Given the description of an element on the screen output the (x, y) to click on. 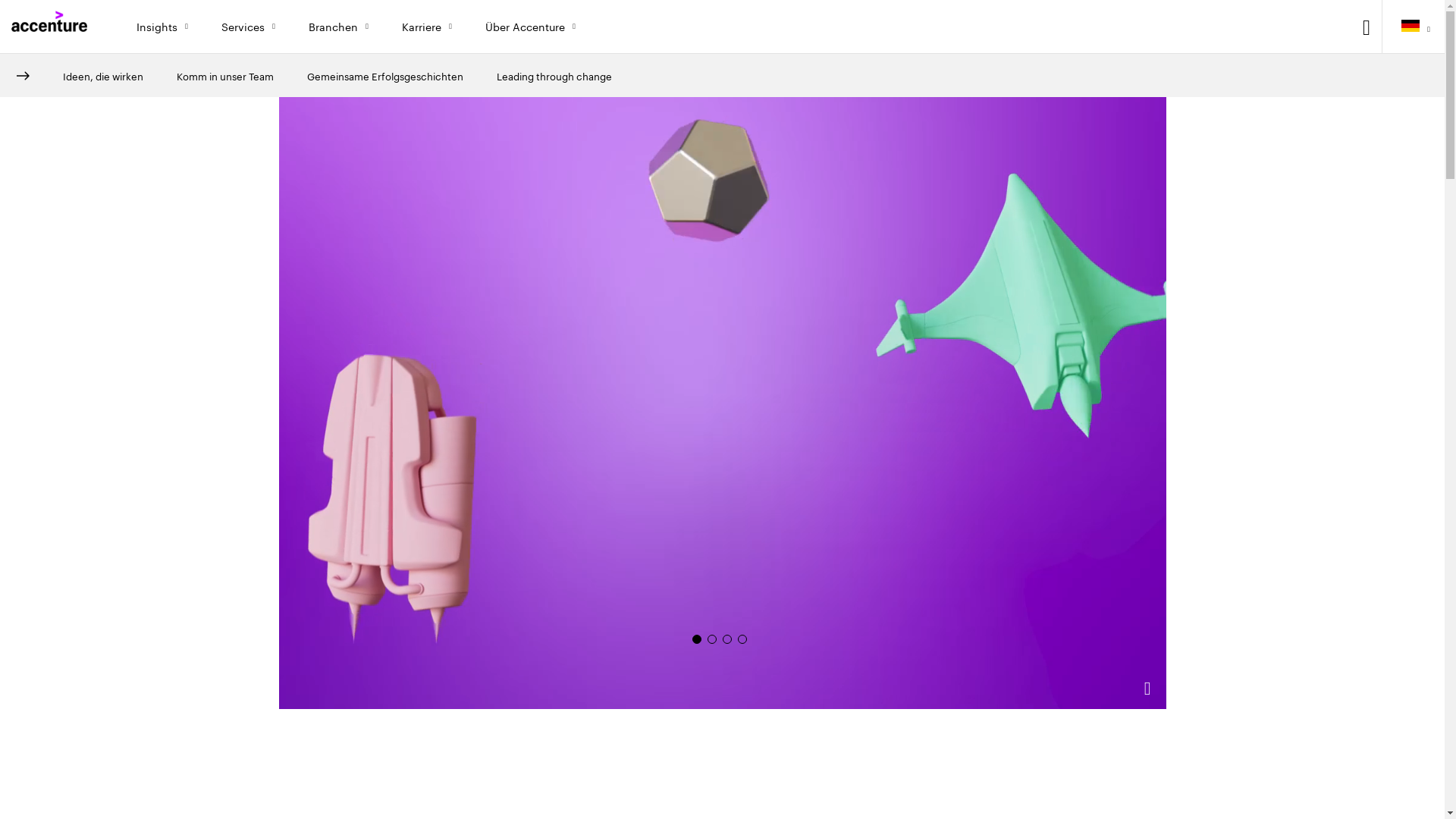
Komm in unser Team Element type: text (225, 75)
Insights Element type: text (166, 26)
Gemeinsame Erfolgsgeschichten Element type: text (385, 75)
Branchen Element type: text (342, 26)
Ideen, die wirken Element type: text (103, 75)
Services Element type: text (252, 26)
Karriere Element type: text (430, 26)
Leading through change Element type: text (554, 75)
